Given the description of an element on the screen output the (x, y) to click on. 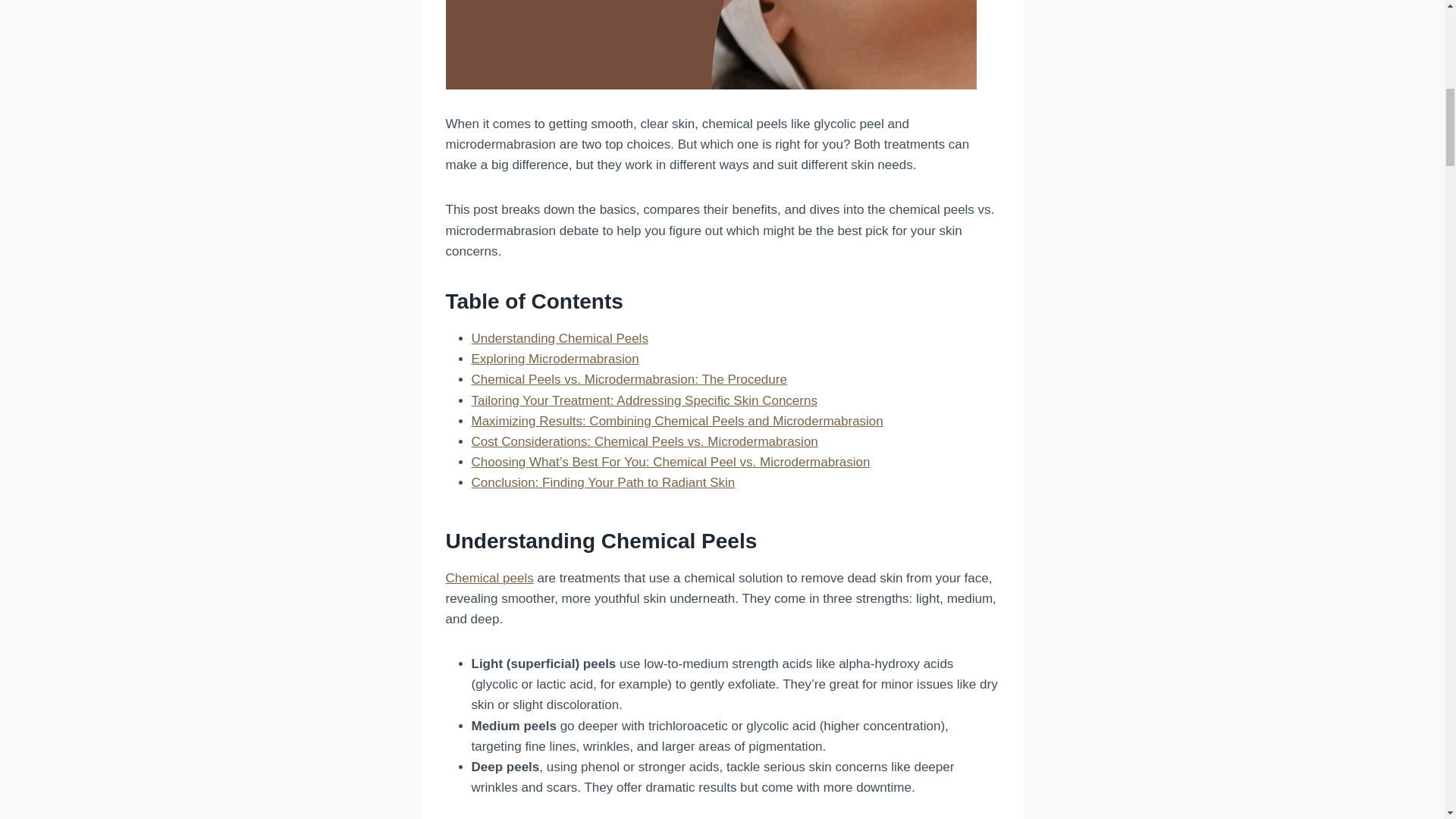
Tailoring Your Treatment: Addressing Specific Skin Concerns (643, 400)
Chemical peels (489, 577)
Understanding Chemical Peels (559, 338)
Cost Considerations: Chemical Peels vs. Microdermabrasion (644, 441)
Chemical Peels vs. Microdermabrasion: The Procedure (629, 379)
Exploring Microdermabrasion (555, 359)
Conclusion: Finding Your Path to Radiant Skin (603, 482)
